Given the description of an element on the screen output the (x, y) to click on. 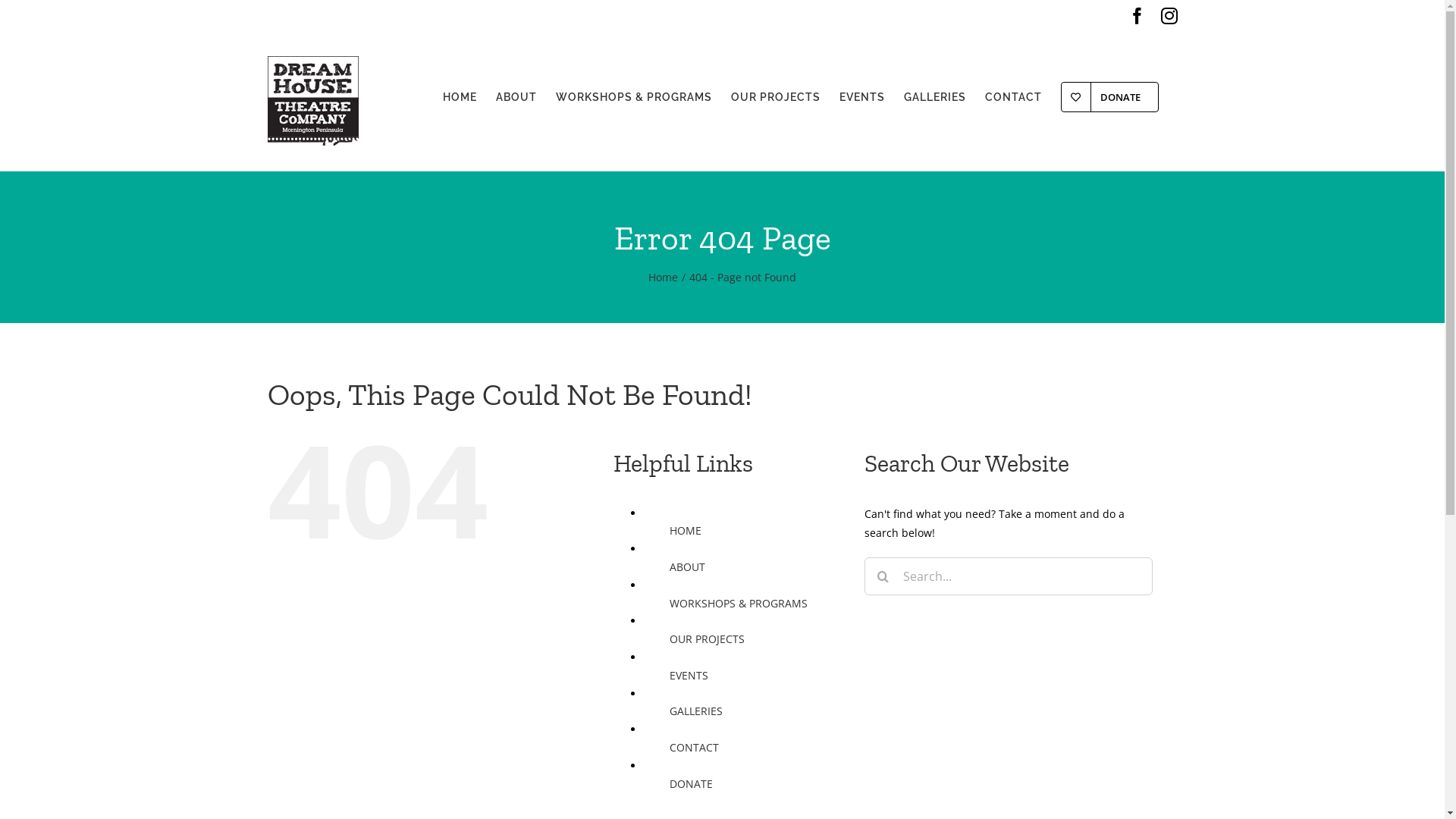
EVENTS Element type: text (861, 96)
OUR PROJECTS Element type: text (775, 96)
ABOUT Element type: text (687, 566)
WORKSHOPS & PROGRAMS Element type: text (633, 96)
OUR PROJECTS Element type: text (706, 638)
DONATE Element type: text (690, 783)
WORKSHOPS & PROGRAMS Element type: text (738, 603)
HOME Element type: text (685, 530)
Instagram Element type: text (1168, 15)
CONTACT Element type: text (693, 747)
CONTACT Element type: text (1012, 96)
ABOUT Element type: text (515, 96)
GALLERIES Element type: text (695, 710)
GALLERIES Element type: text (934, 96)
EVENTS Element type: text (688, 675)
DONATE Element type: text (1108, 96)
Home Element type: text (662, 276)
Facebook Element type: text (1136, 15)
HOME Element type: text (459, 96)
